Given the description of an element on the screen output the (x, y) to click on. 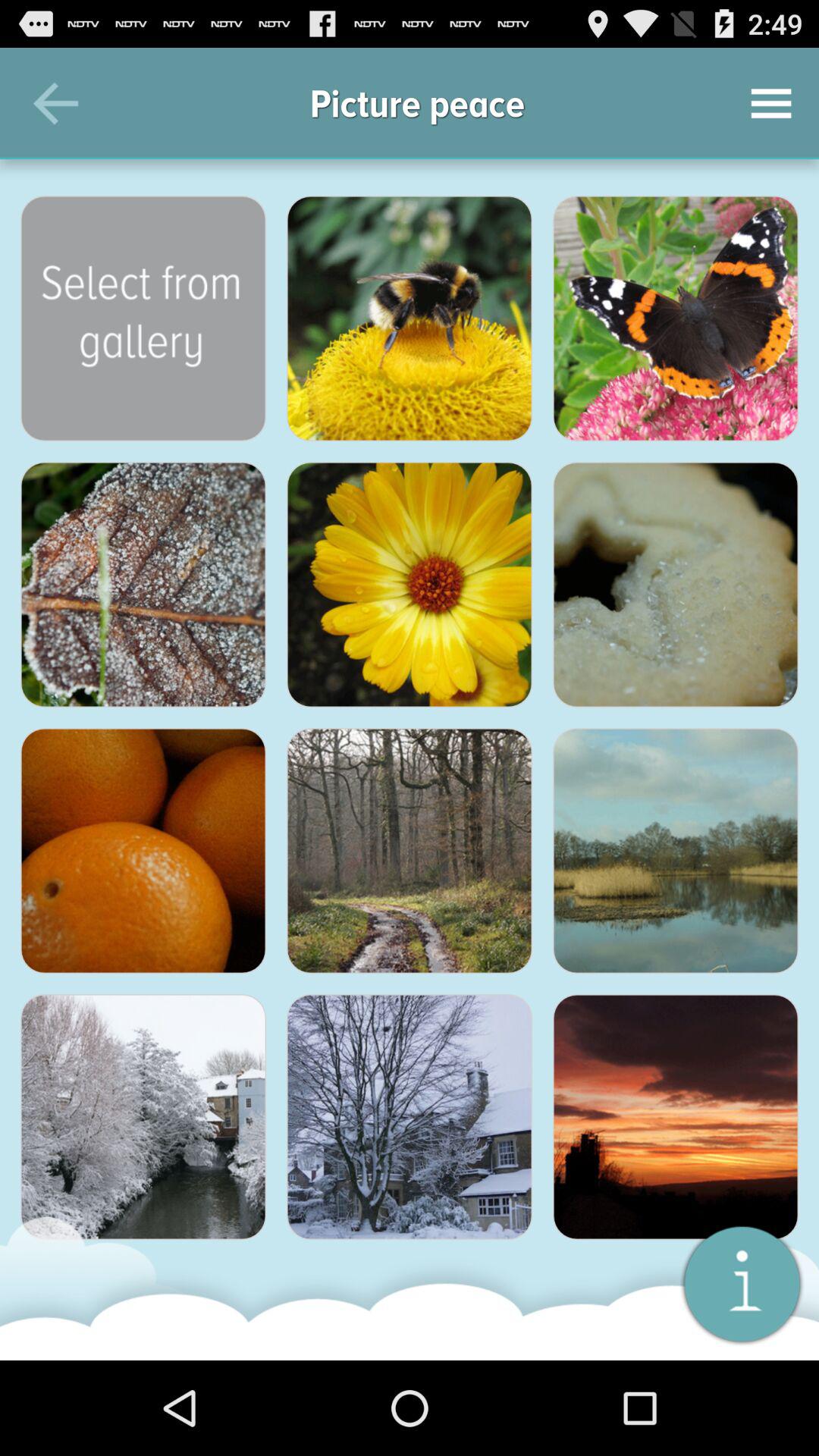
toggle a category option (143, 584)
